Given the description of an element on the screen output the (x, y) to click on. 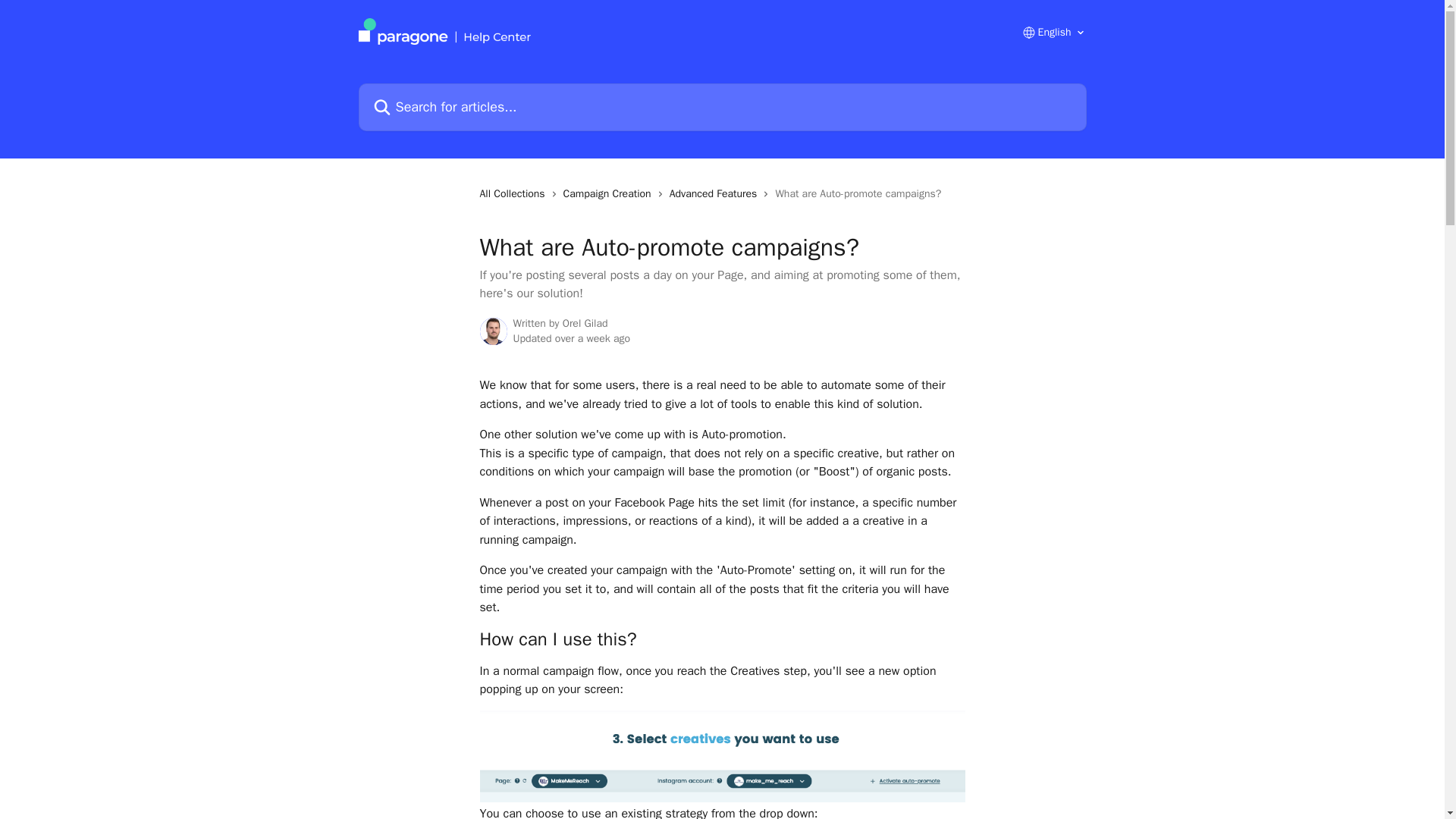
All Collections (514, 193)
Campaign Creation (610, 193)
Advanced Features (715, 193)
